Given the description of an element on the screen output the (x, y) to click on. 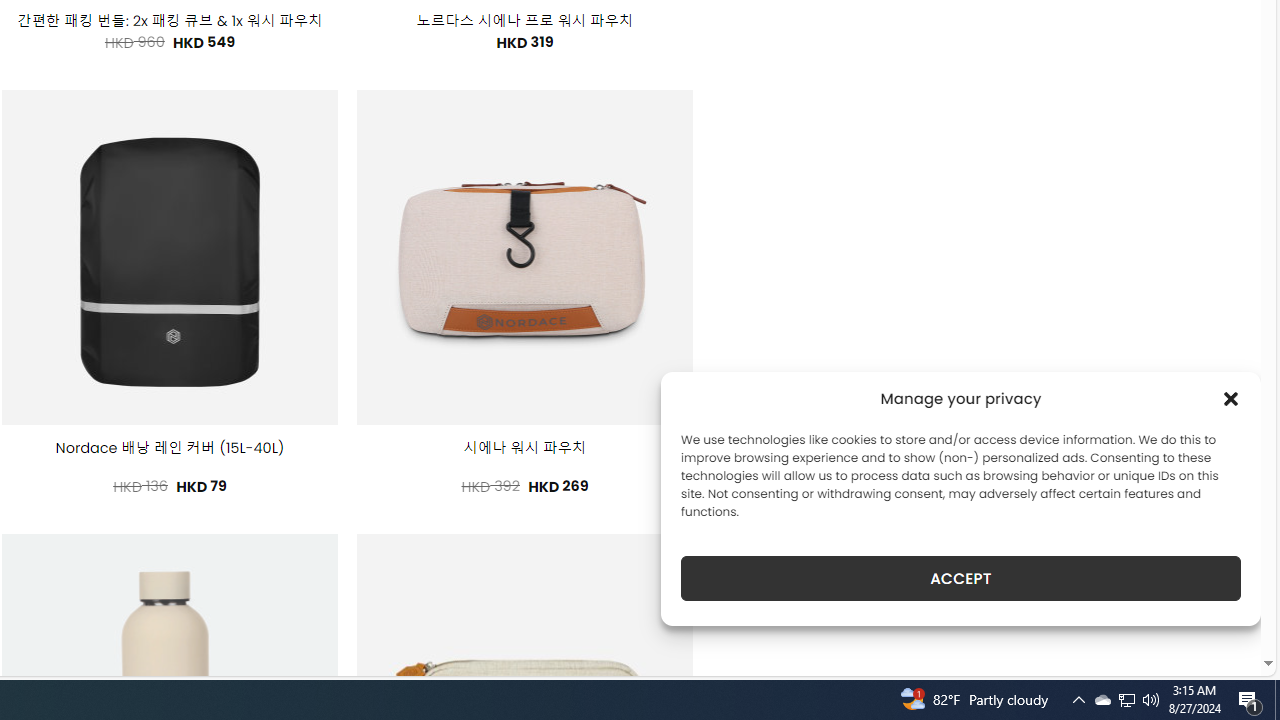
Class: cmplz-close (1231, 398)
ACCEPT (960, 578)
